Given the description of an element on the screen output the (x, y) to click on. 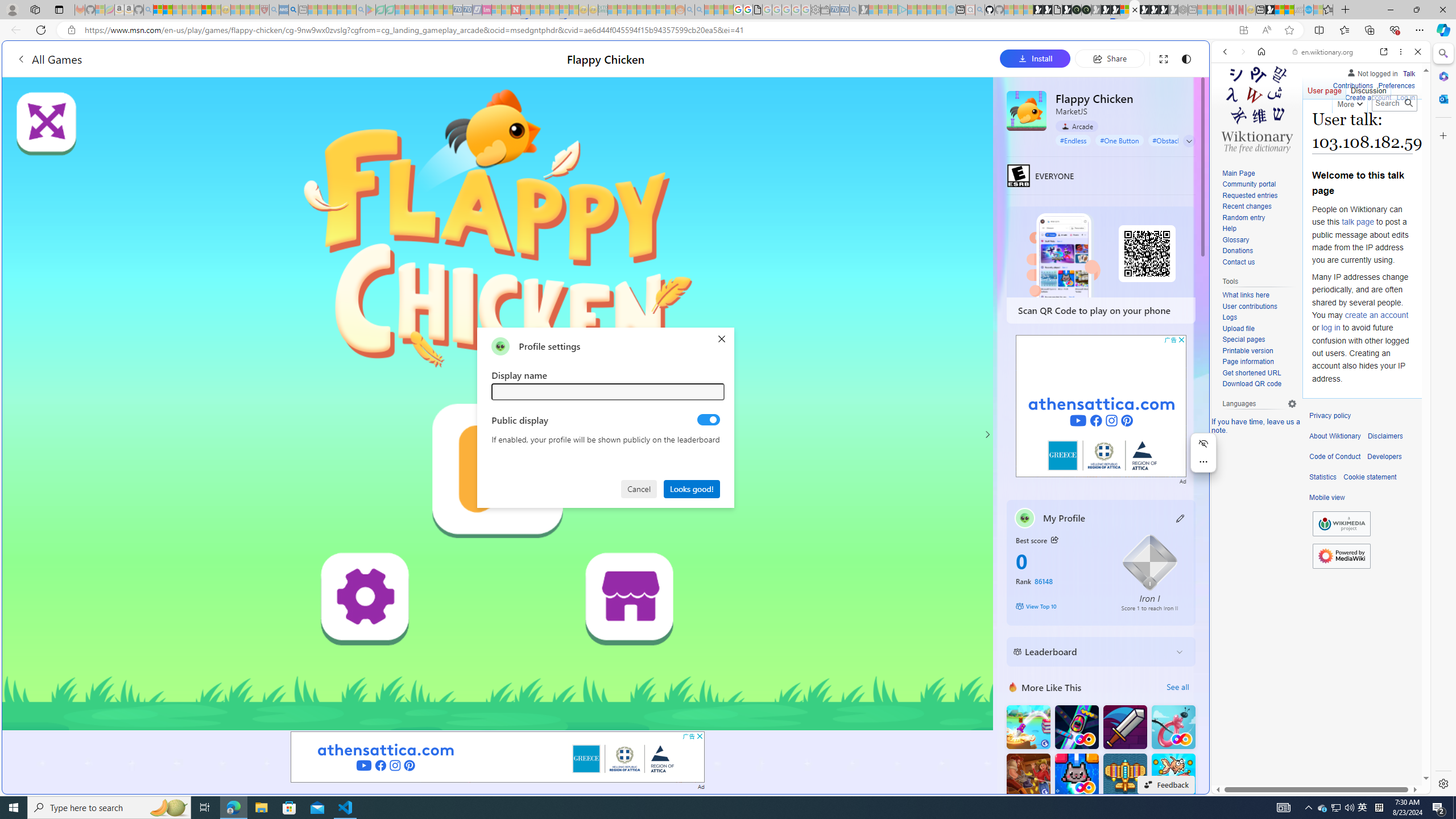
Developers (1384, 456)
Looks good! (691, 488)
Navy Quest (1299, 9)
Utah sues federal government - Search - Sleeping (699, 9)
Preferences (1403, 129)
Home | Sky Blue Bikes - Sky Blue Bikes (1118, 242)
Recipes - MSN - Sleeping (234, 9)
Community portal (1259, 184)
Download QR code (1251, 384)
Log in (1405, 98)
Preferences (1396, 84)
